Given the description of an element on the screen output the (x, y) to click on. 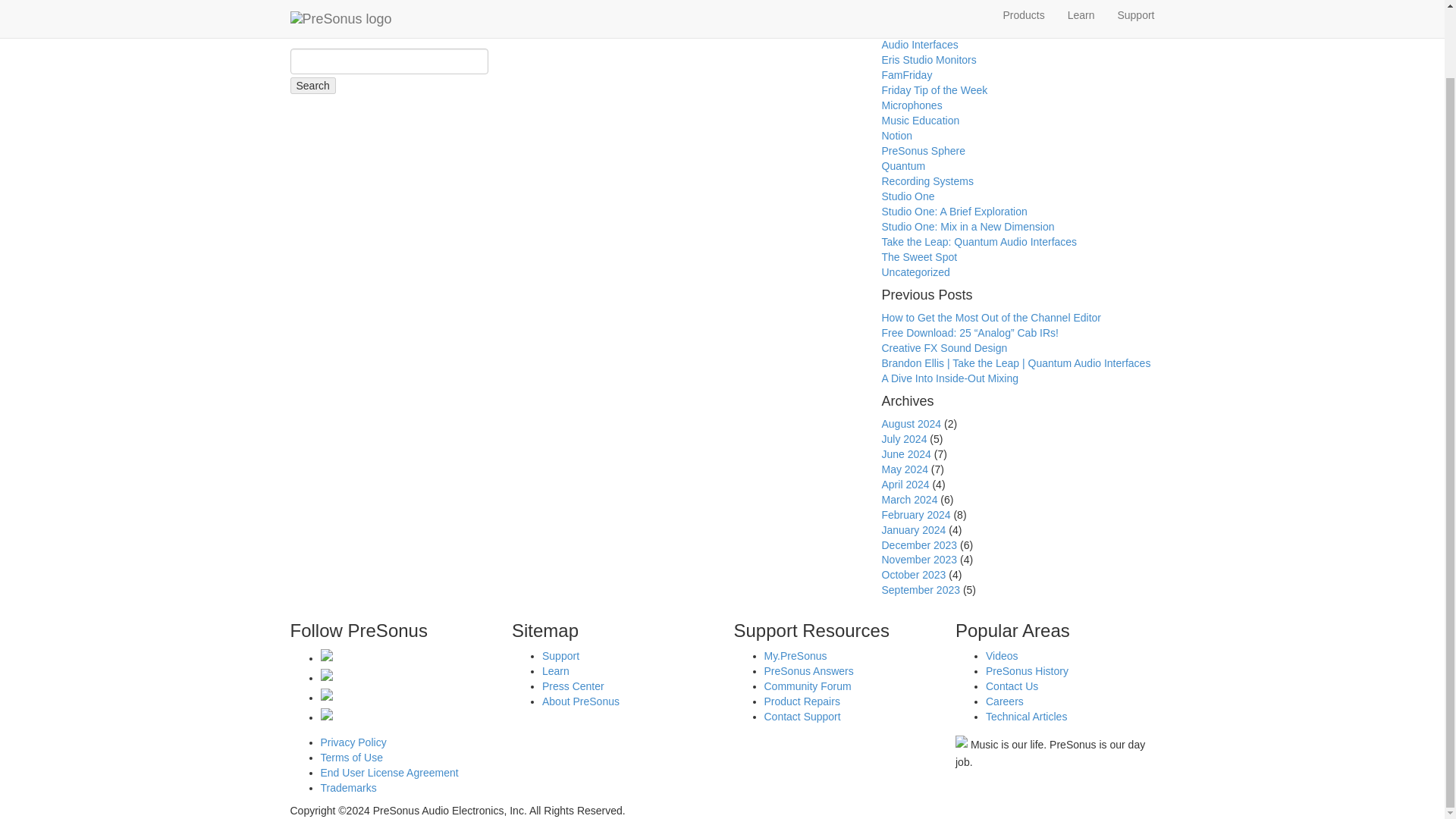
Notion (895, 135)
Search (311, 85)
FamFriday (905, 74)
Ampire (897, 14)
Friday Tip of the Week (933, 90)
Search (311, 85)
PreSonus Sphere (922, 150)
Artist (892, 29)
Audio Interfaces (919, 44)
Eris Studio Monitors (927, 60)
